Given the description of an element on the screen output the (x, y) to click on. 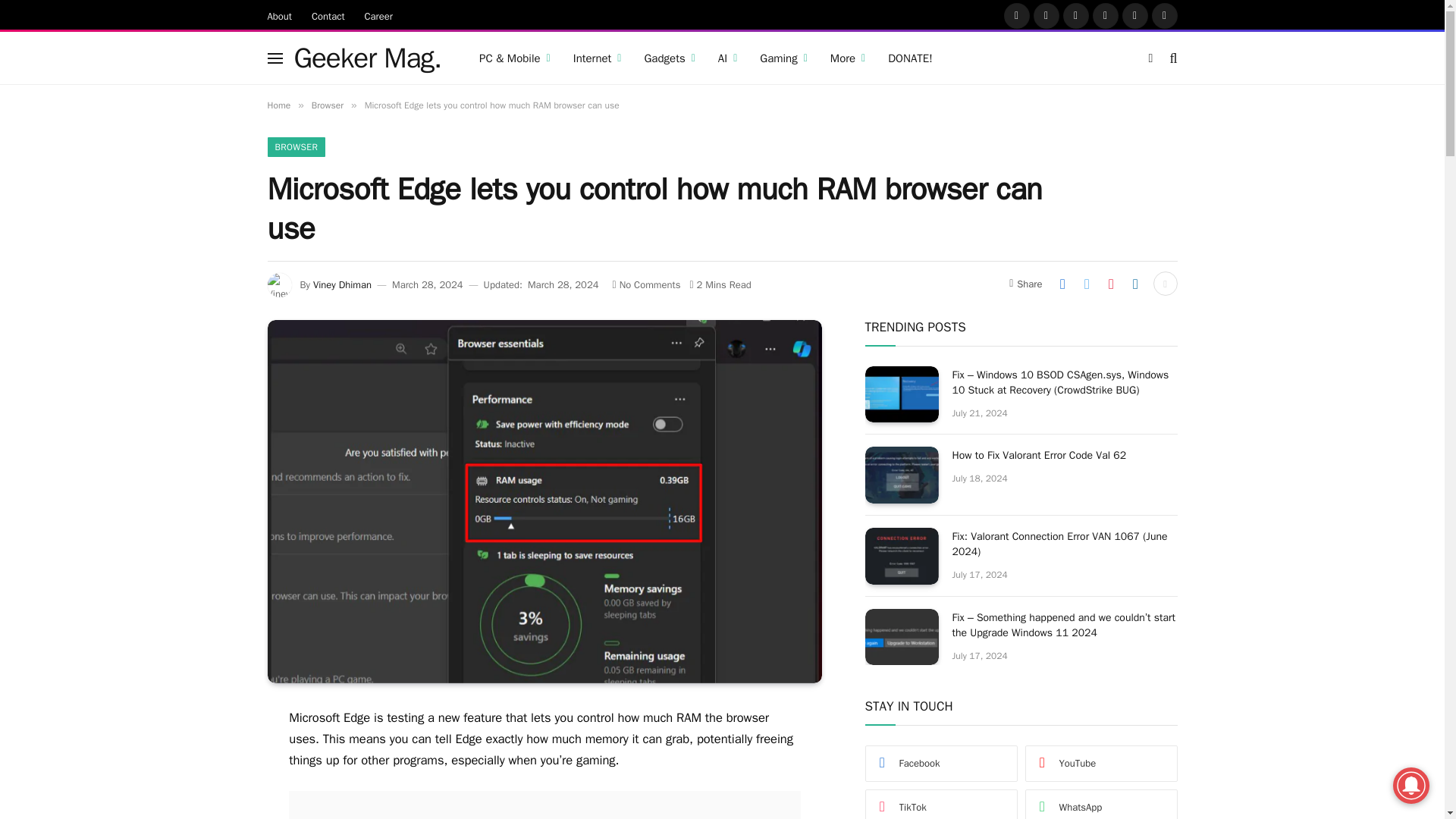
Pinterest (1105, 15)
About (279, 15)
Contact (328, 15)
Facebook (1016, 15)
Geeker Mag. (368, 57)
WhatsApp (1163, 15)
Instagram (1075, 15)
LinkedIn (1135, 15)
Career (379, 15)
Geeker Mag. (368, 57)
